Given the description of an element on the screen output the (x, y) to click on. 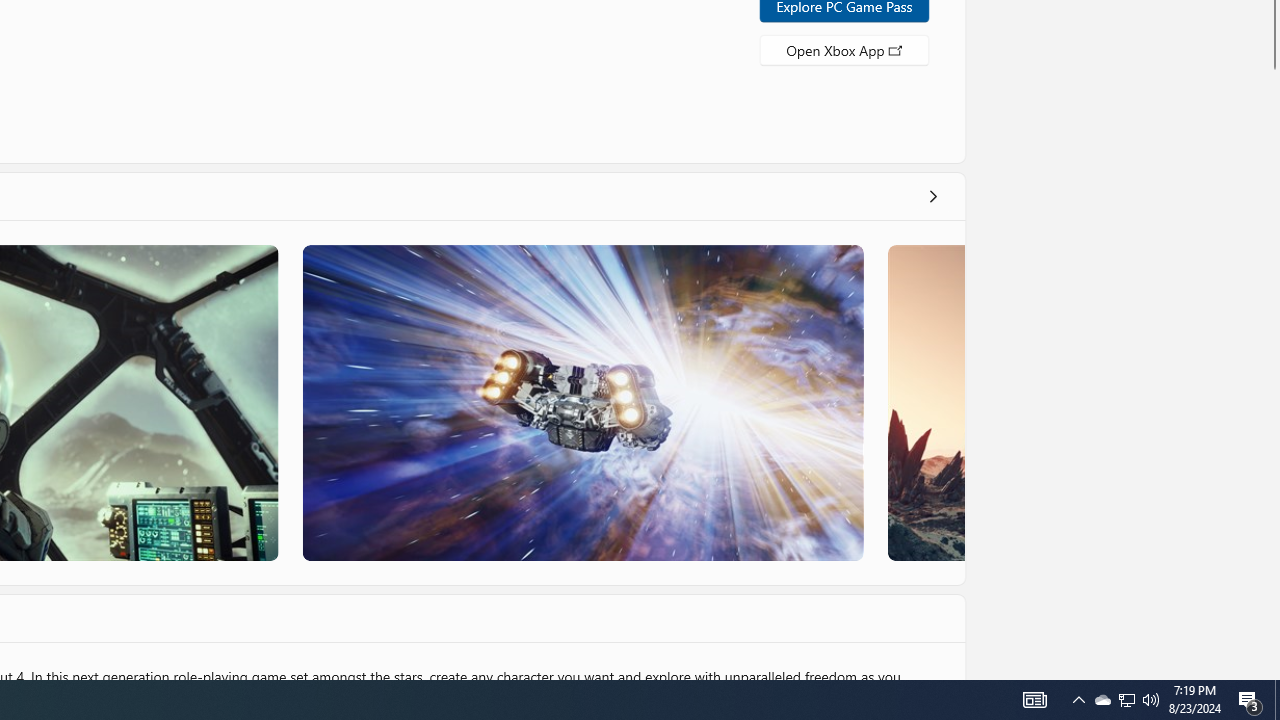
Screenshot 4 (925, 402)
Screenshot 3 (582, 402)
Vertical Large Increase (1272, 369)
Vertical Small Increase (1272, 672)
See all (932, 195)
Open Xbox App (844, 48)
